Given the description of an element on the screen output the (x, y) to click on. 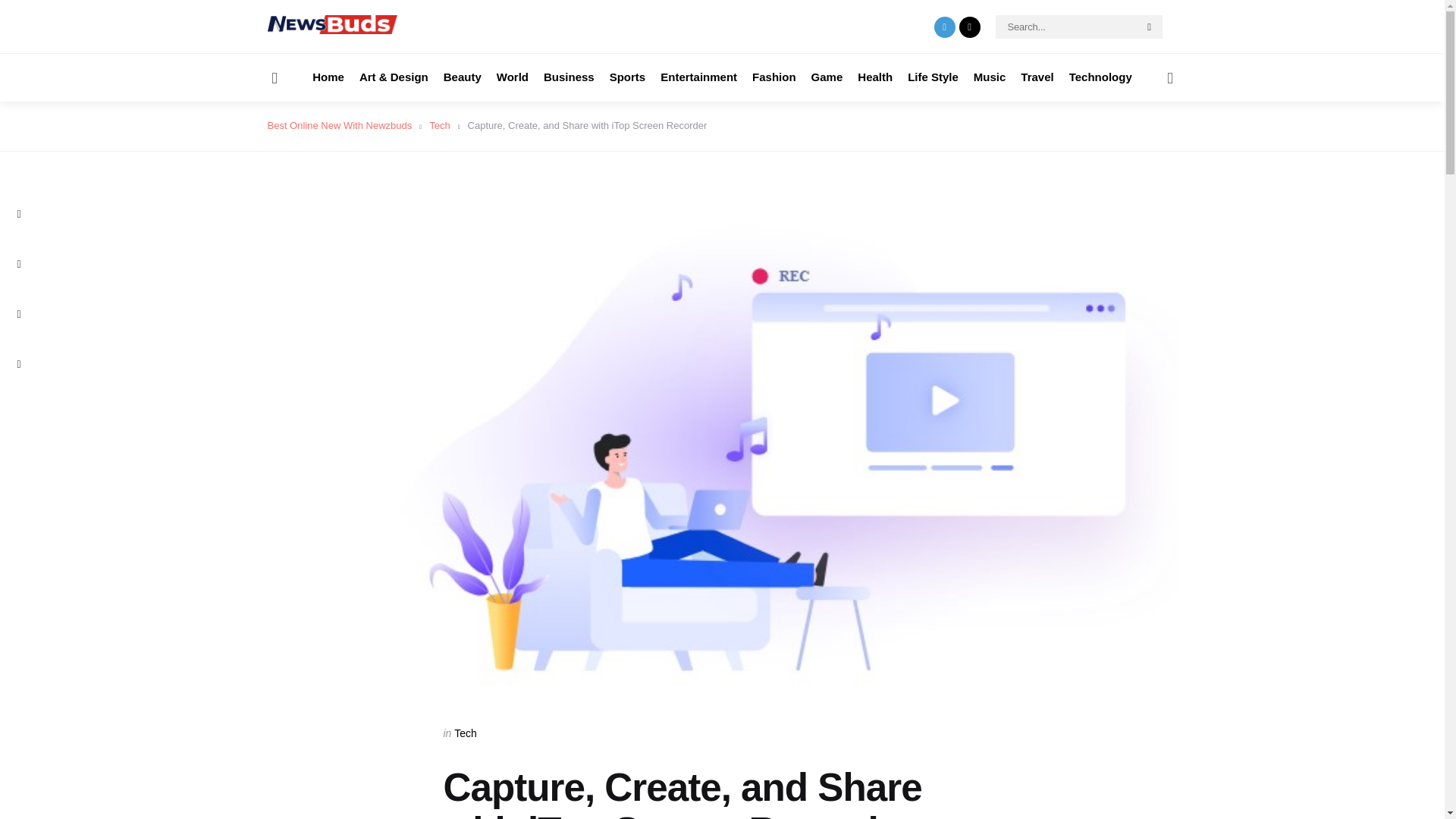
Go to Best Online New With Newzbuds. (339, 125)
Go to the Tech Category archives. (439, 125)
Search (1149, 26)
Business (568, 77)
World (512, 77)
Beauty (462, 77)
Home (328, 77)
